Given the description of an element on the screen output the (x, y) to click on. 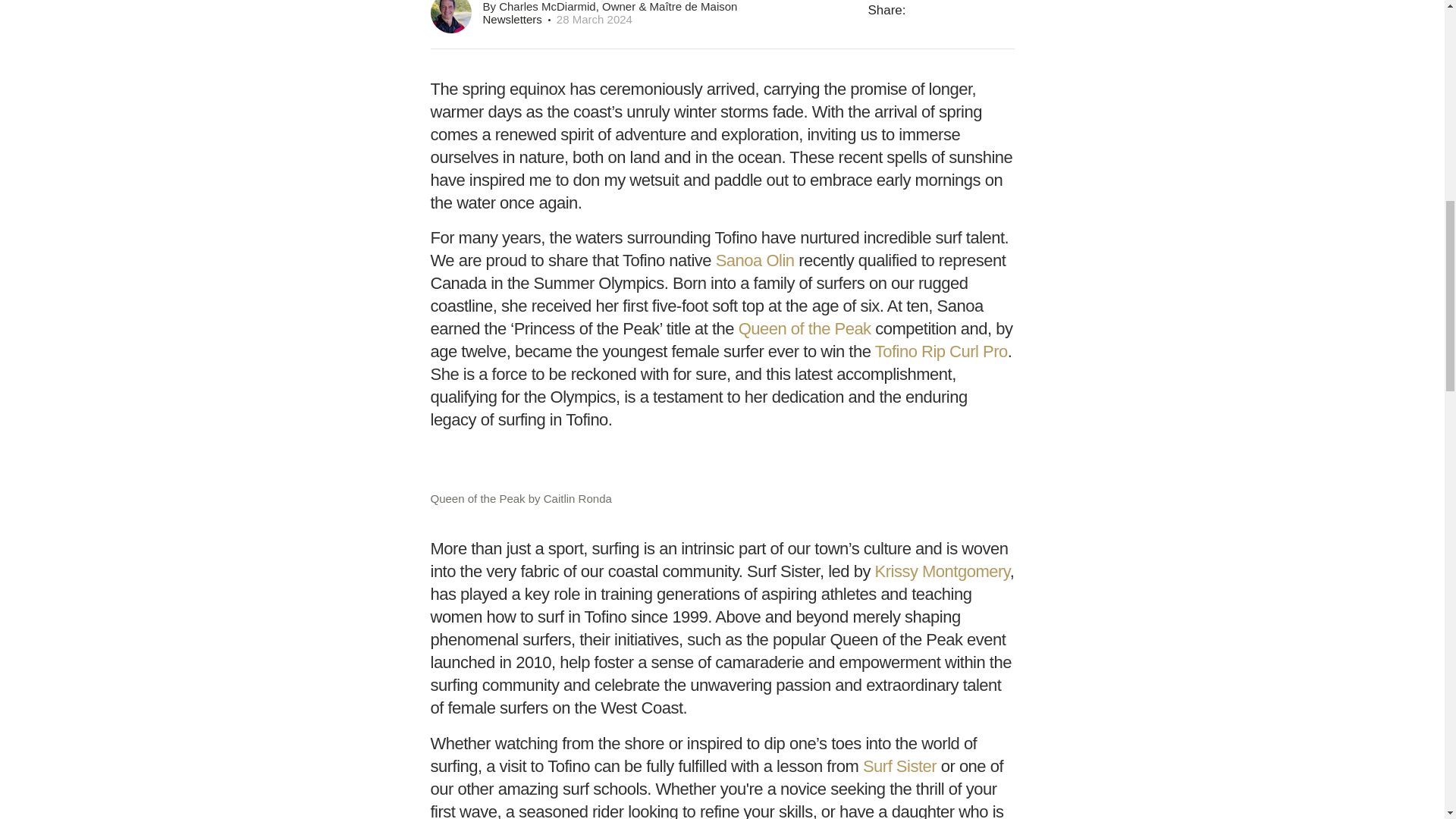
facebook (920, 15)
twitter (958, 17)
pinterest (993, 15)
